Given the description of an element on the screen output the (x, y) to click on. 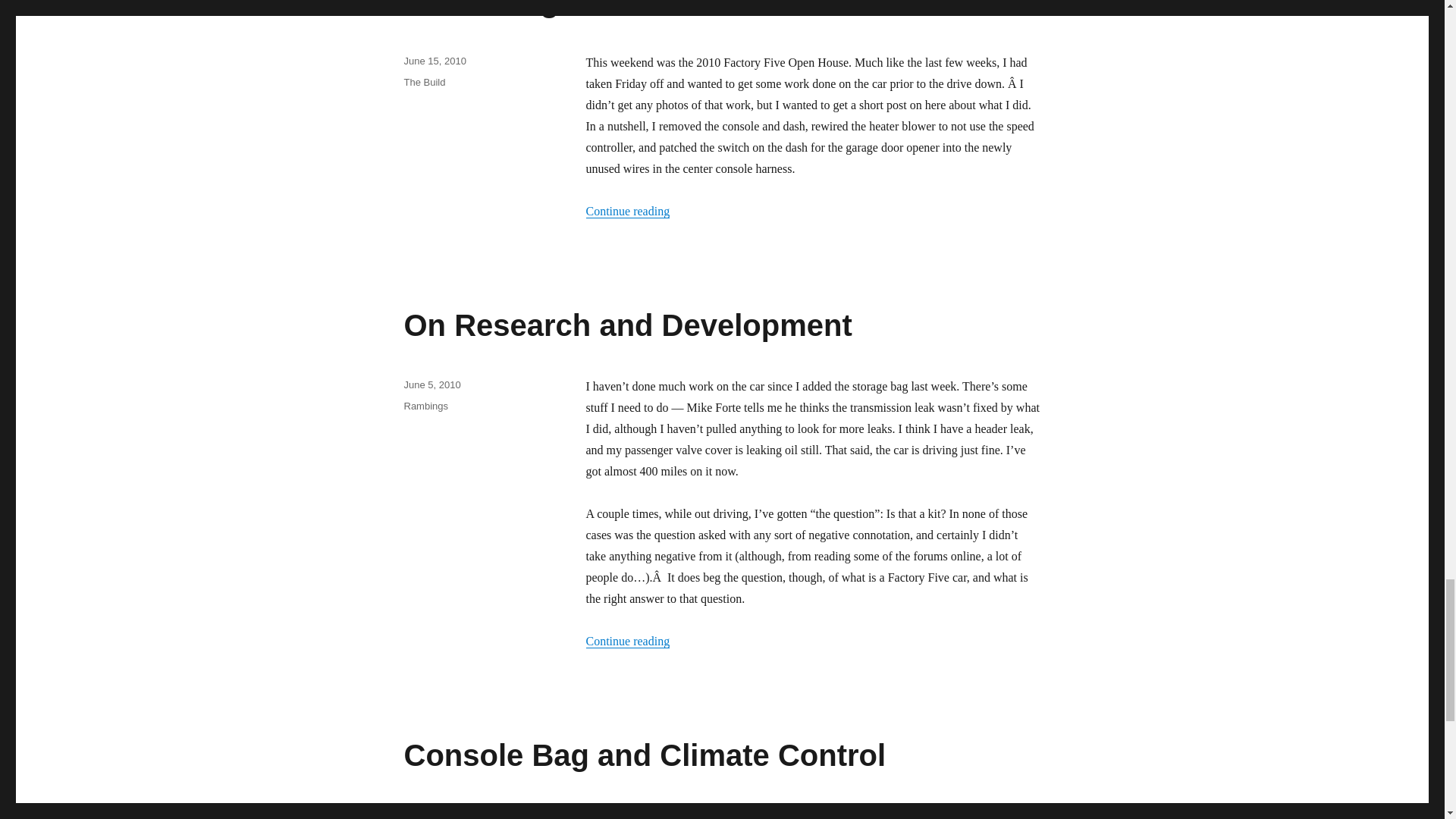
June 15, 2010 (434, 60)
Reworking the Heat and Vent (612, 9)
